Given the description of an element on the screen output the (x, y) to click on. 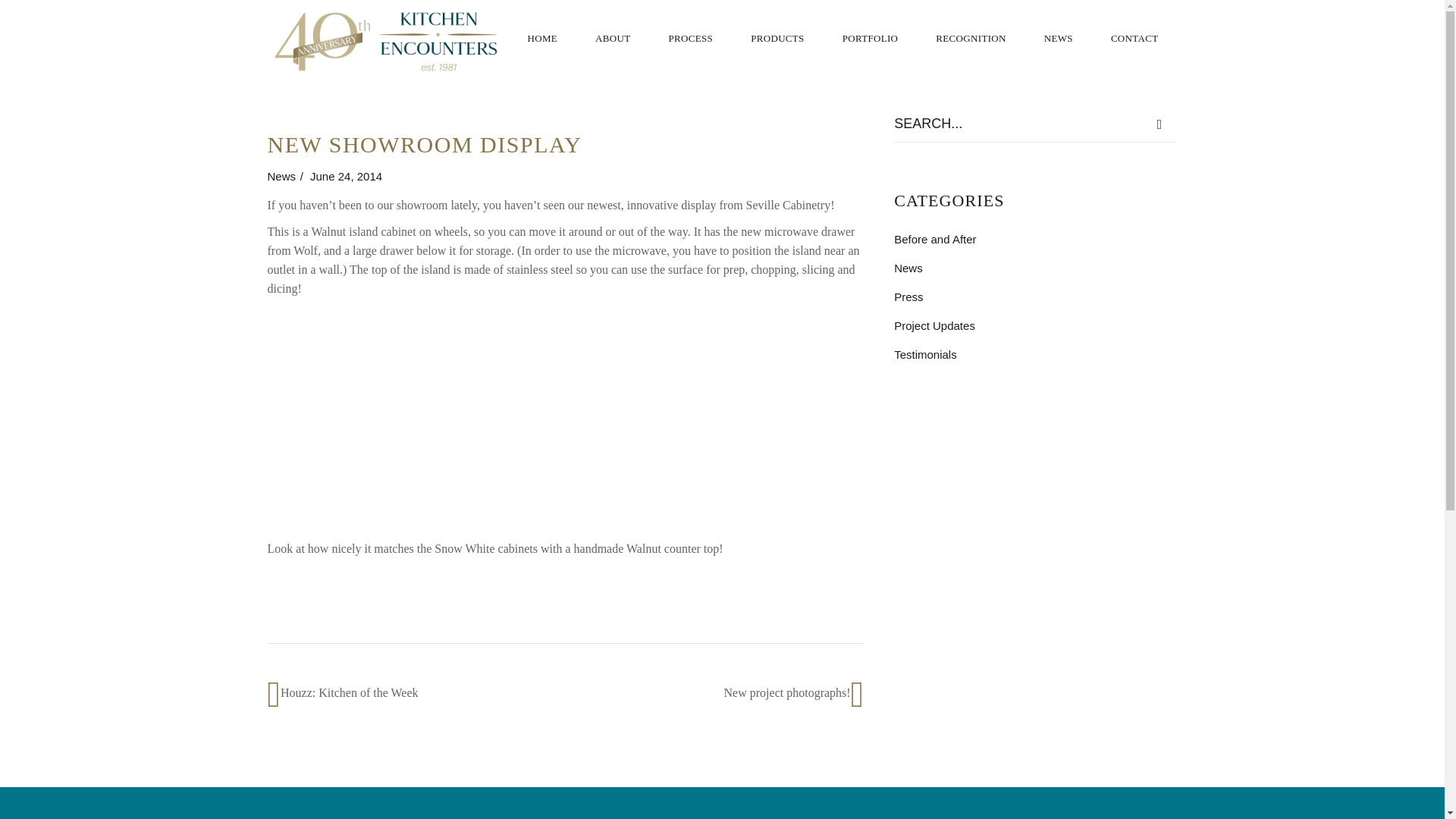
New project photographs! (786, 692)
Houzz: Kitchen of the Week (349, 692)
CONTACT (1134, 38)
HOME (542, 38)
Search for: (1017, 123)
PROCESS (690, 38)
Before and After (934, 238)
June 24, 2014 (345, 175)
News (908, 267)
PRODUCTS (778, 38)
